Given the description of an element on the screen output the (x, y) to click on. 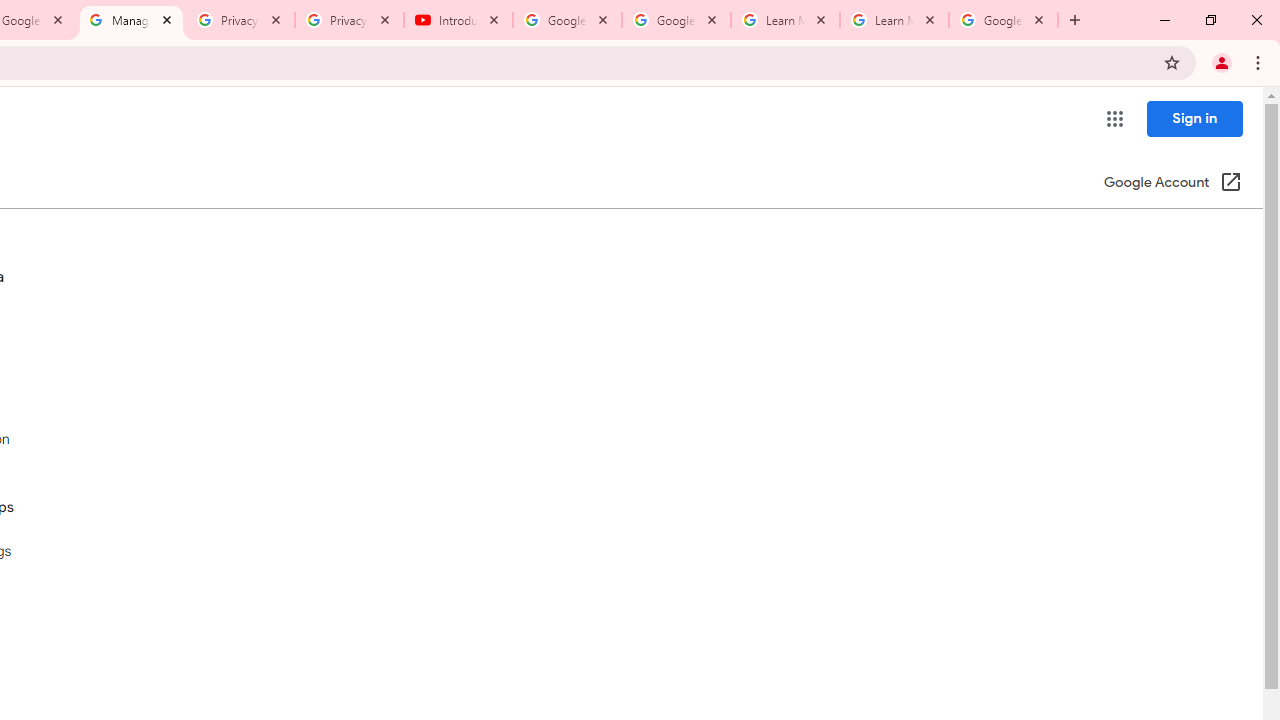
Introduction | Google Privacy Policy - YouTube (458, 20)
Manage location permissions for apps - Google Account Help (130, 20)
Google Account Help (567, 20)
